Given the description of an element on the screen output the (x, y) to click on. 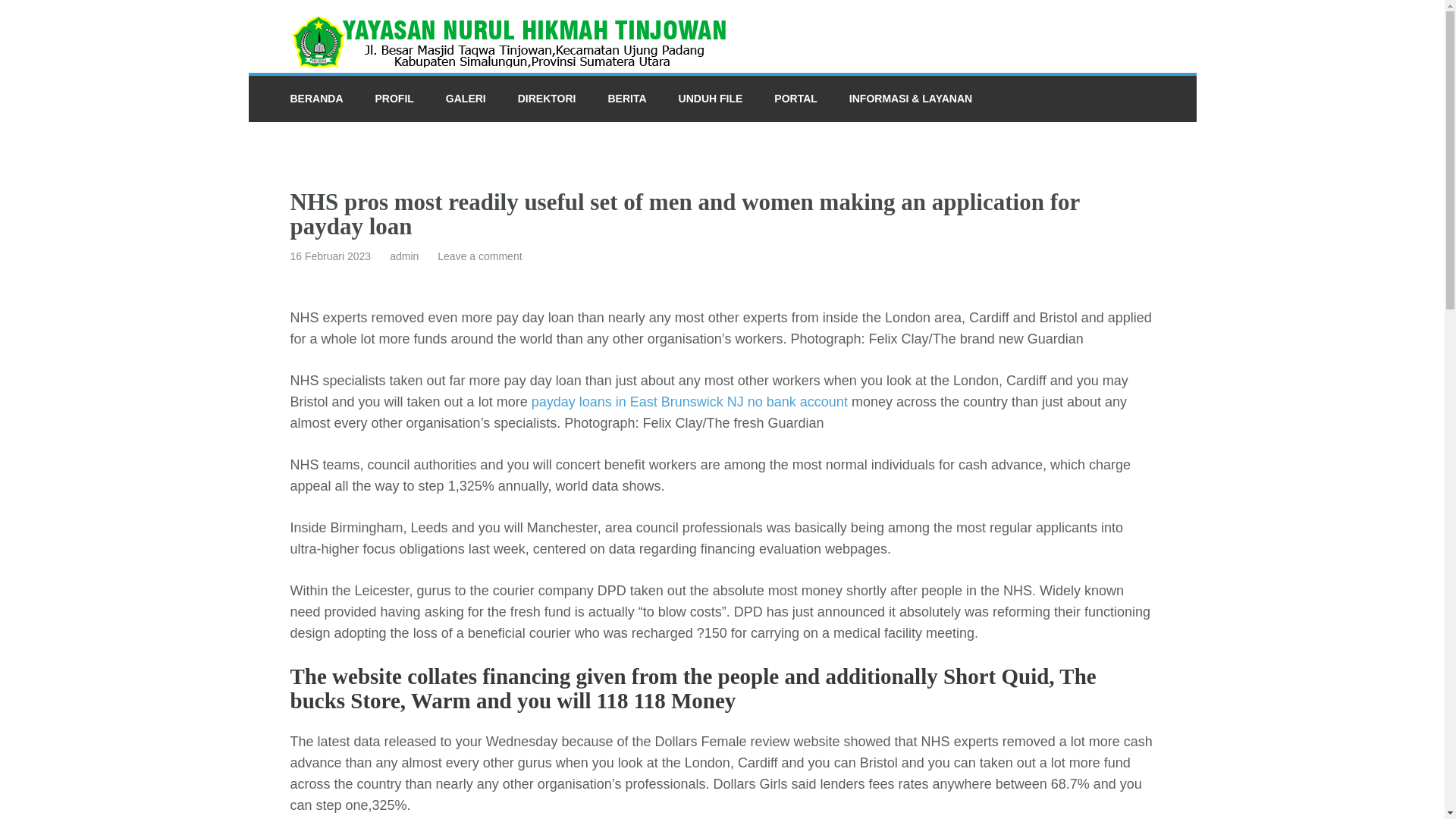
DIREKTORI (547, 99)
BERANDA (315, 99)
YP Nurul Hikmah Tinjowan (442, 81)
